Given the description of an element on the screen output the (x, y) to click on. 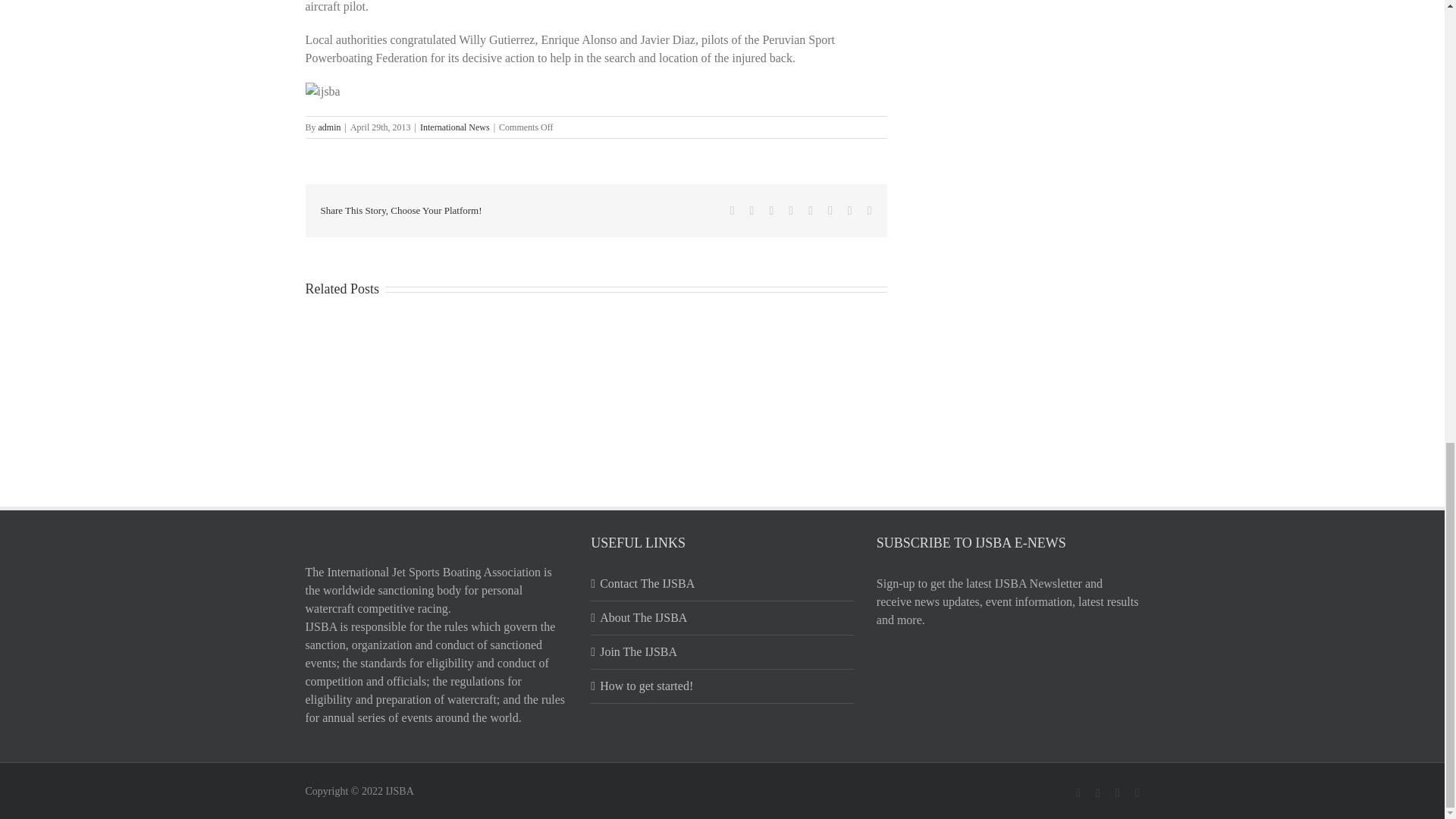
International News (454, 127)
Posts by admin (329, 127)
admin (329, 127)
